Given the description of an element on the screen output the (x, y) to click on. 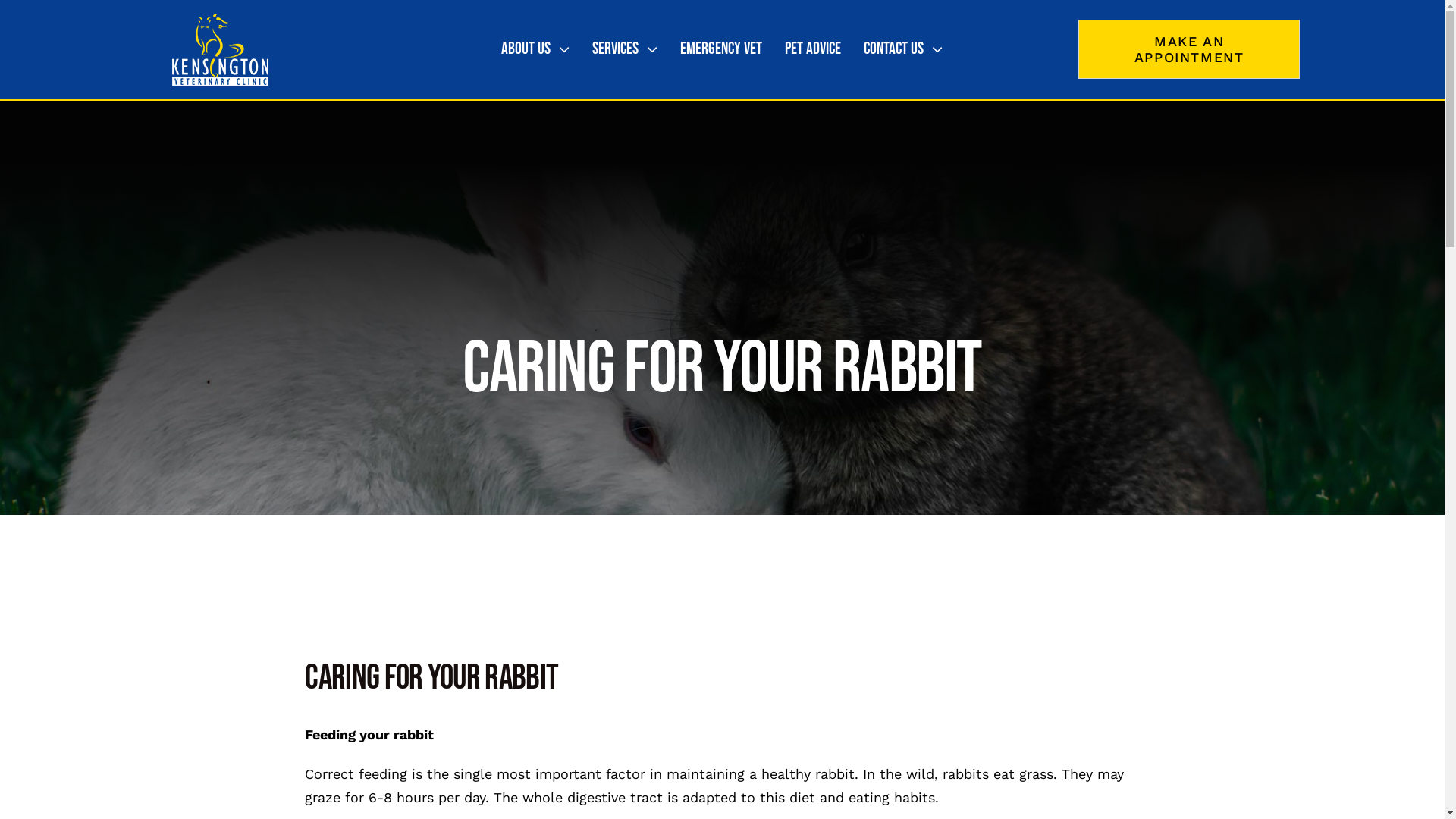
PET ADVICE Element type: text (812, 48)
SERVICES Element type: text (624, 48)
ABOUT US Element type: text (535, 48)
MAKE AN APPOINTMENT Element type: text (1189, 48)
EMERGENCY VET Element type: text (721, 48)
CONTACT US Element type: text (902, 48)
